Given the description of an element on the screen output the (x, y) to click on. 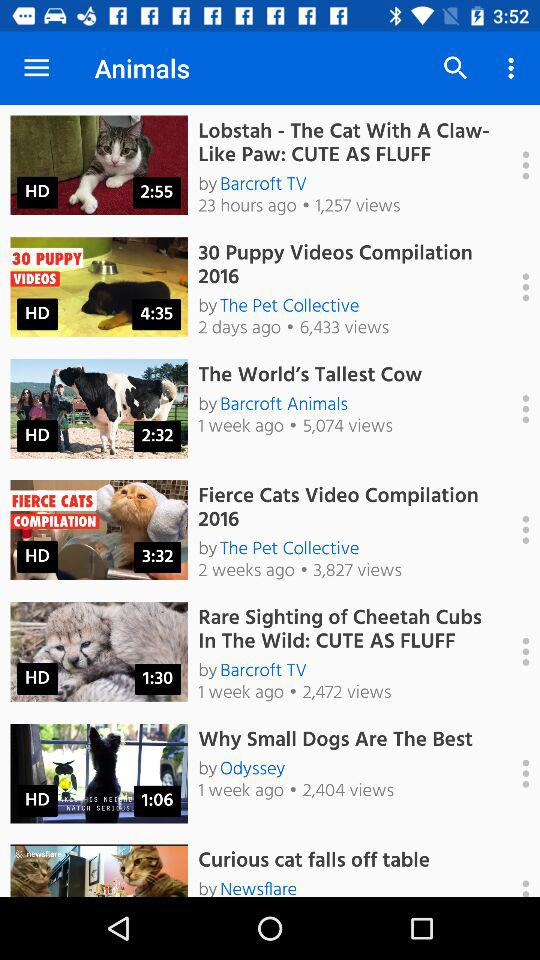
options (515, 773)
